Given the description of an element on the screen output the (x, y) to click on. 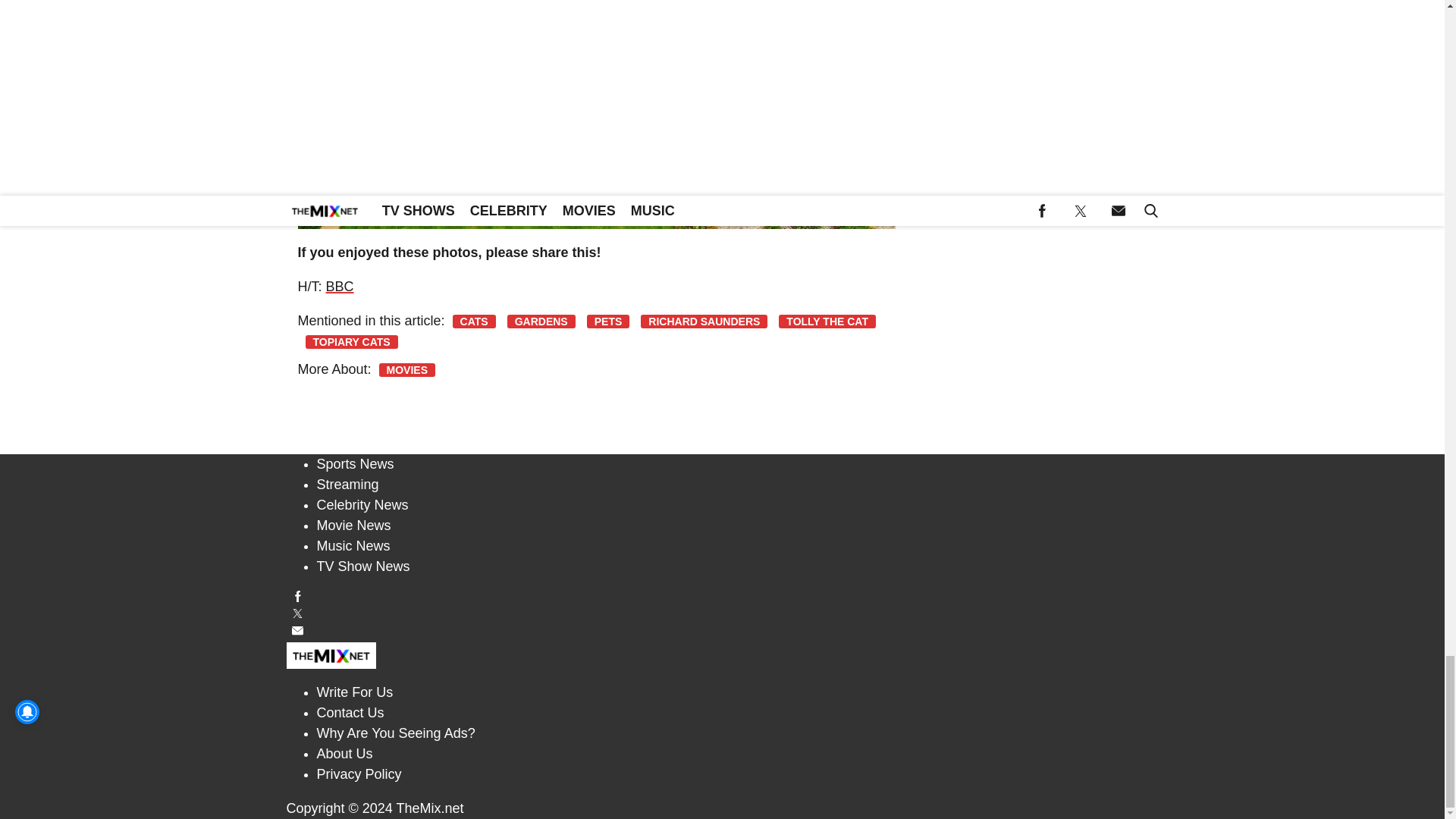
BBC (339, 286)
TOLLY THE CAT (827, 321)
PETS (608, 321)
RICHARD SAUNDERS (703, 321)
GARDENS (540, 321)
CATS (474, 321)
TOPIARY CATS (350, 341)
MOVIES (406, 369)
